Given the description of an element on the screen output the (x, y) to click on. 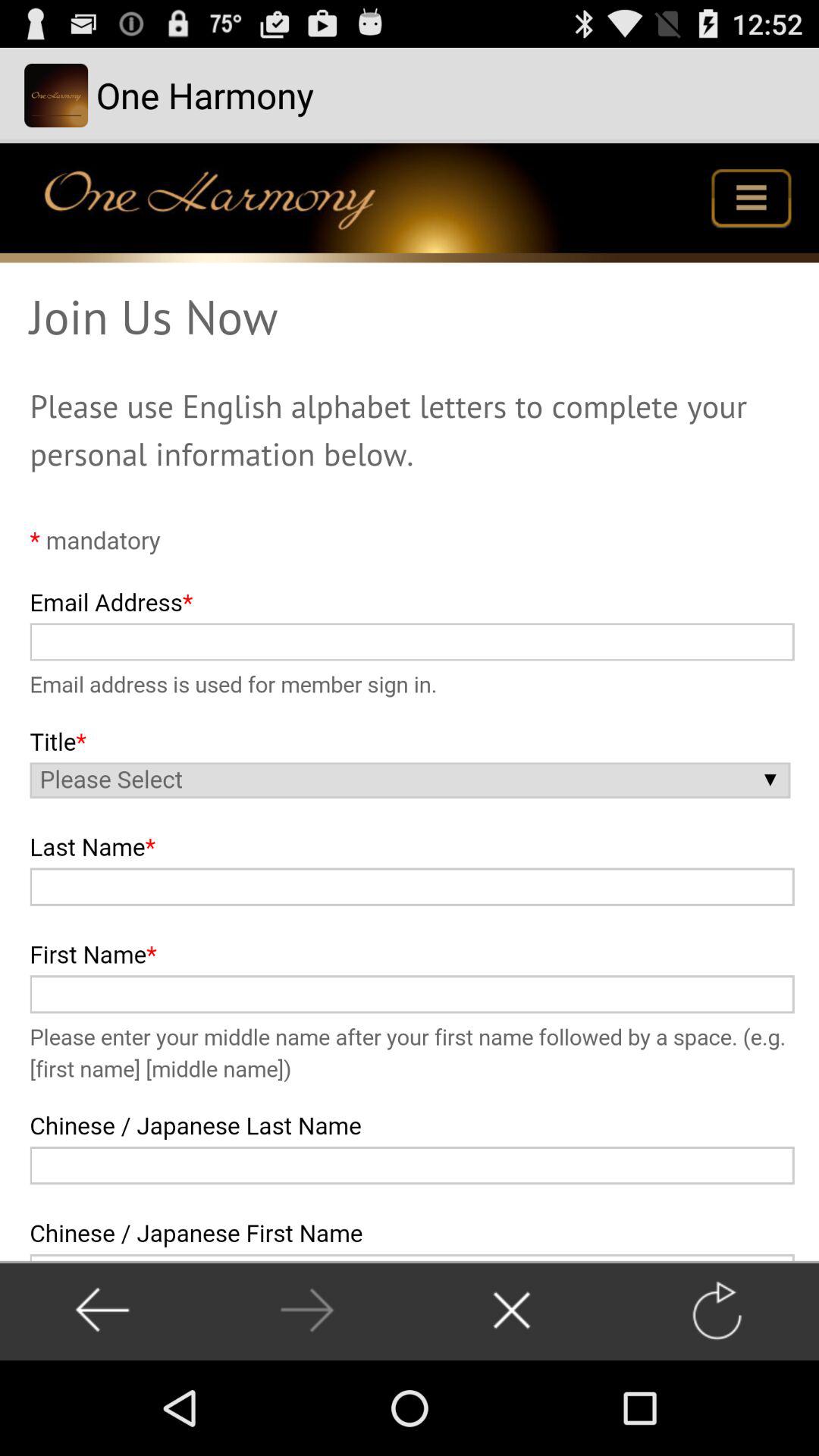
refresh the page (716, 1310)
